Given the description of an element on the screen output the (x, y) to click on. 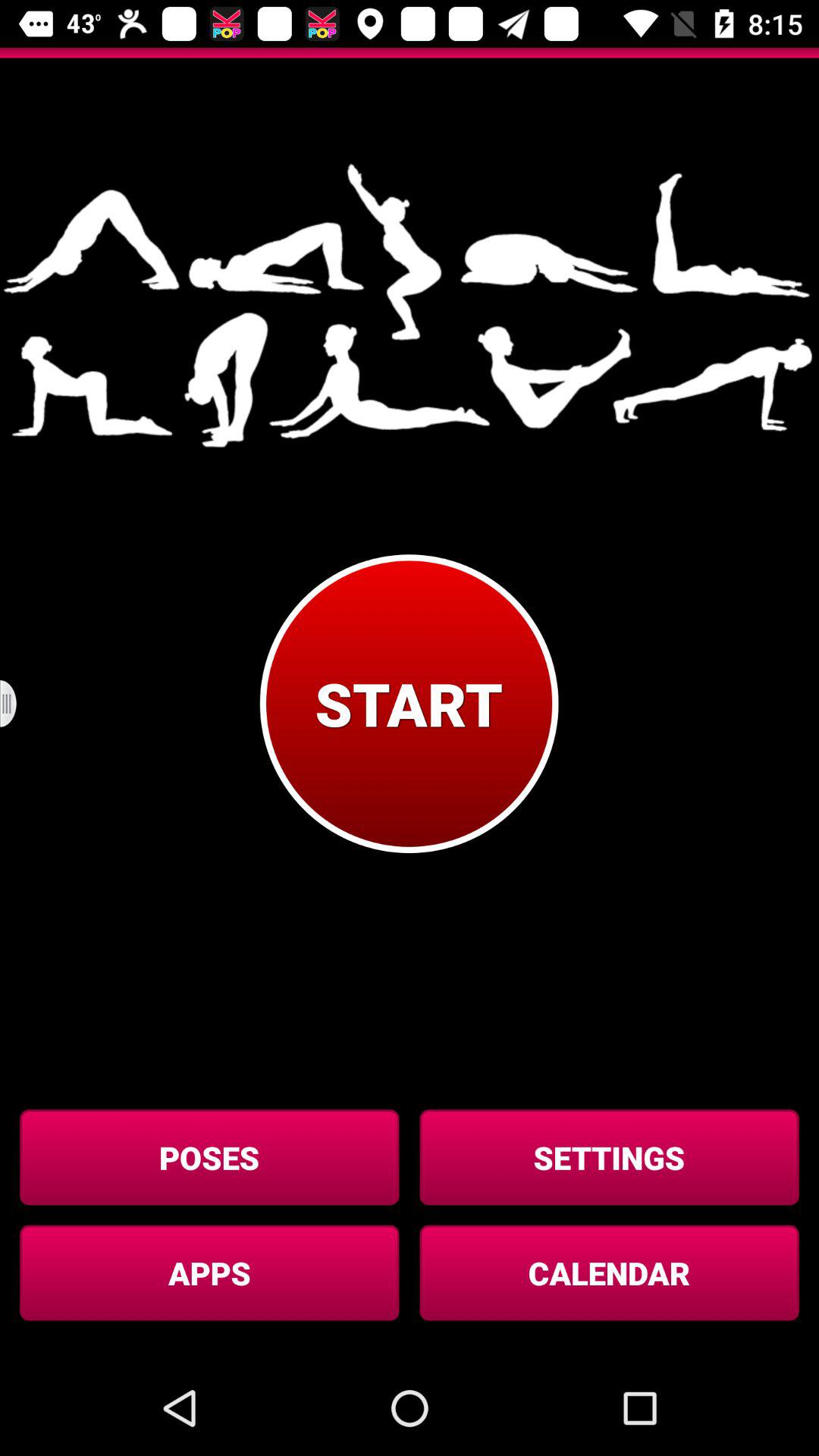
launch the button to the left of calendar button (209, 1272)
